Given the description of an element on the screen output the (x, y) to click on. 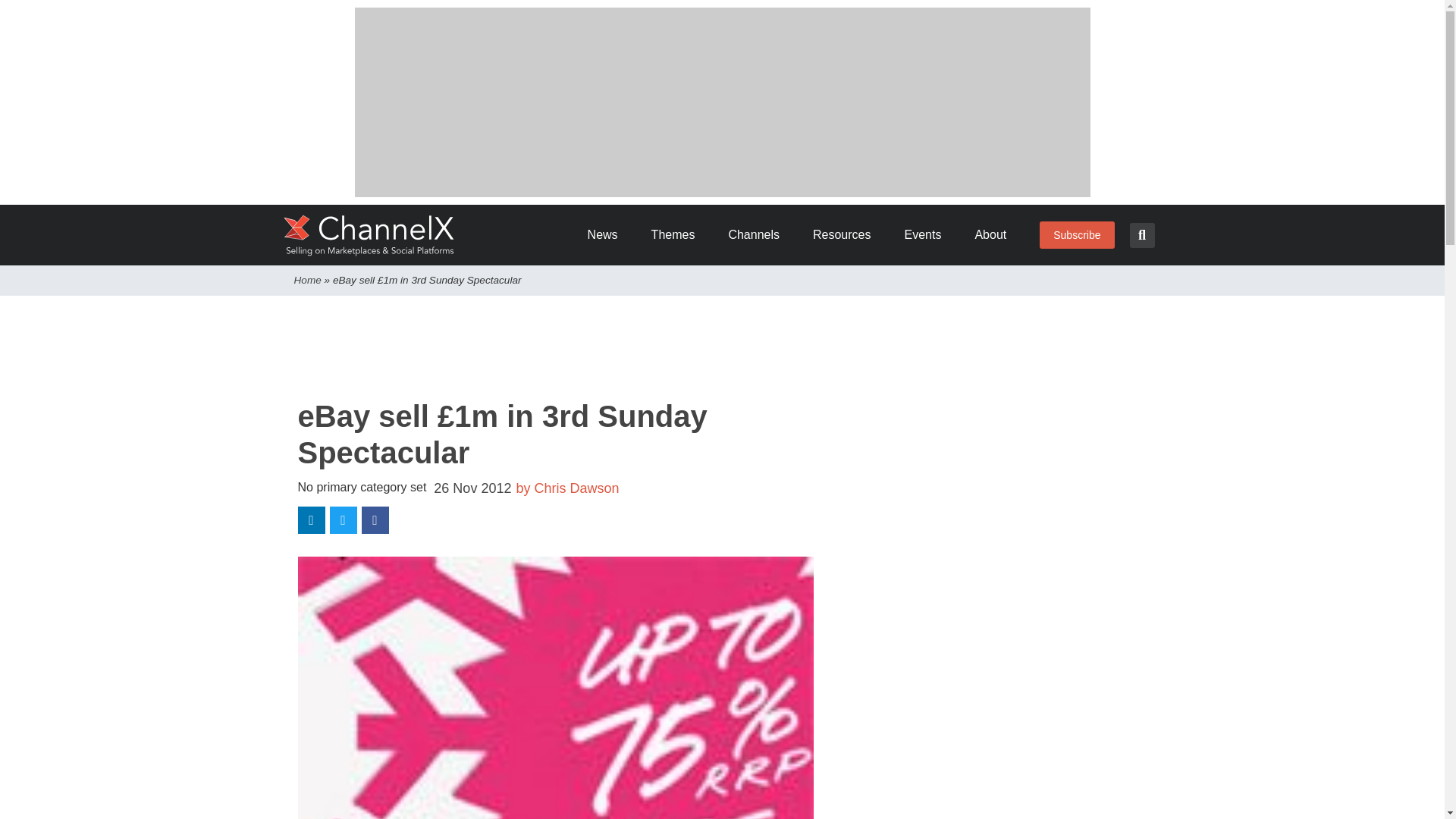
ChannelX Home Page (369, 234)
Channels (758, 234)
News (607, 234)
Resources (846, 234)
Themes (678, 234)
